Given the description of an element on the screen output the (x, y) to click on. 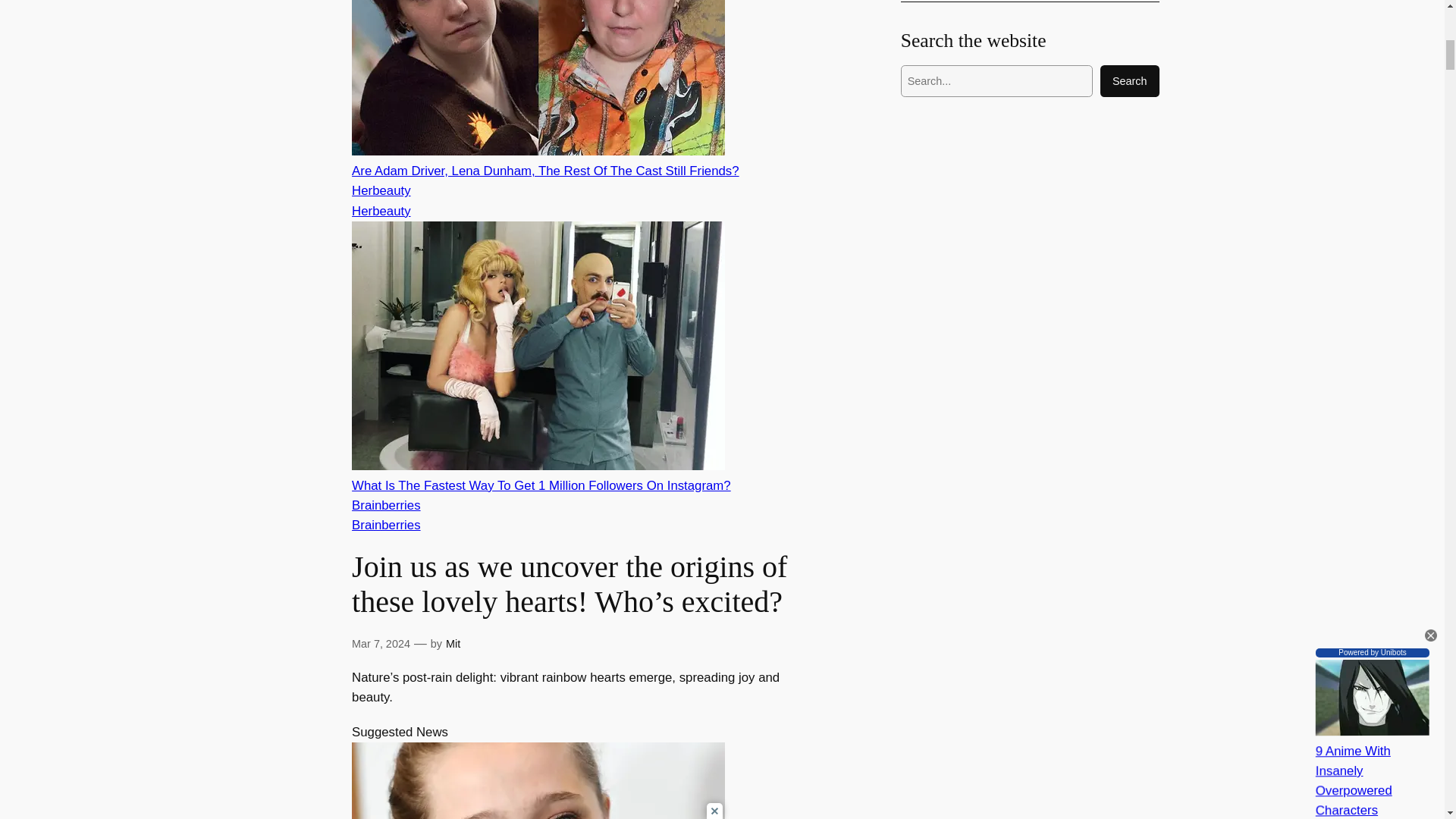
Mit (452, 644)
Search (1129, 81)
Mar 7, 2024 (381, 644)
